Given the description of an element on the screen output the (x, y) to click on. 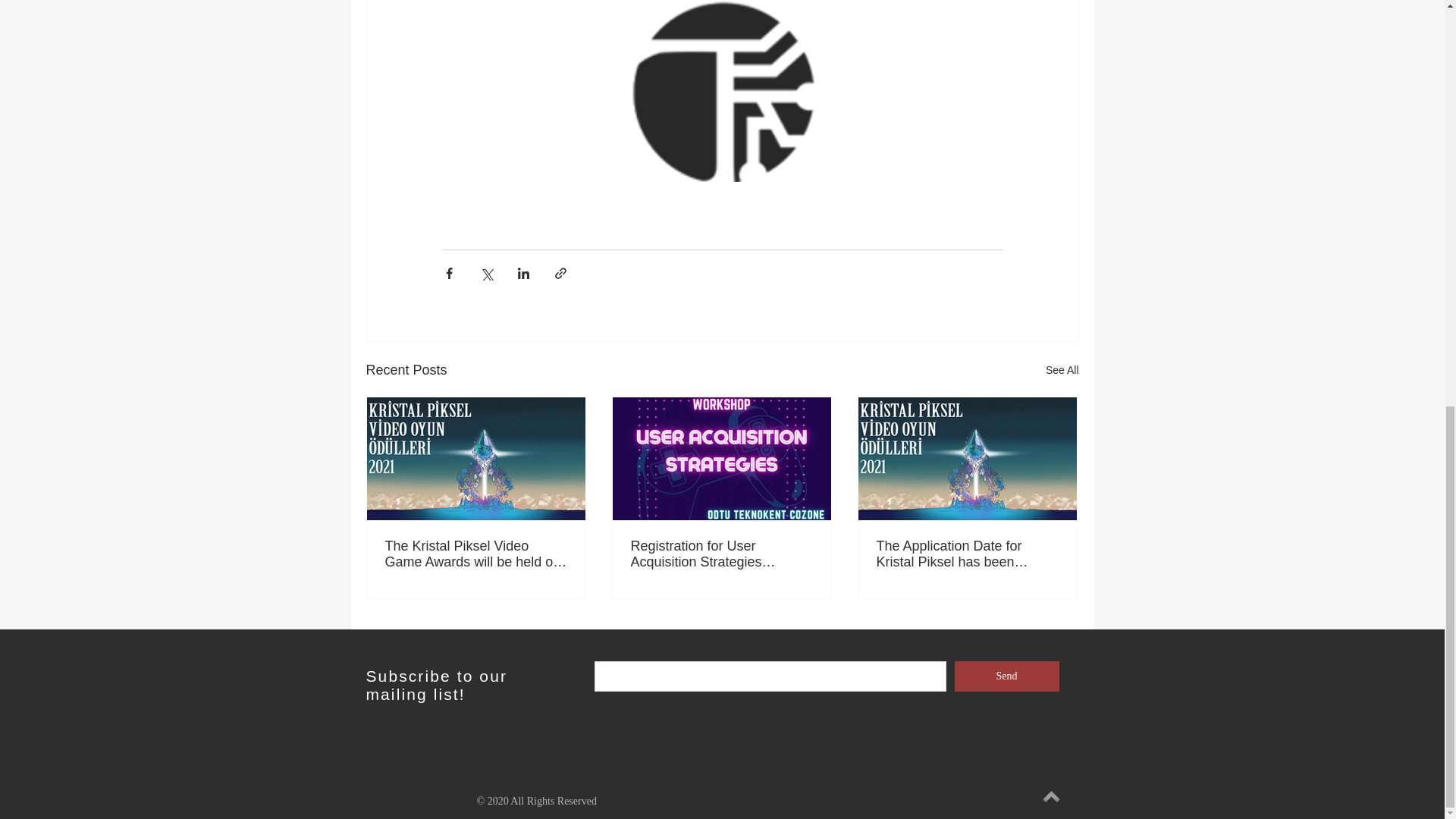
Send (1005, 675)
See All (1061, 370)
